Given the description of an element on the screen output the (x, y) to click on. 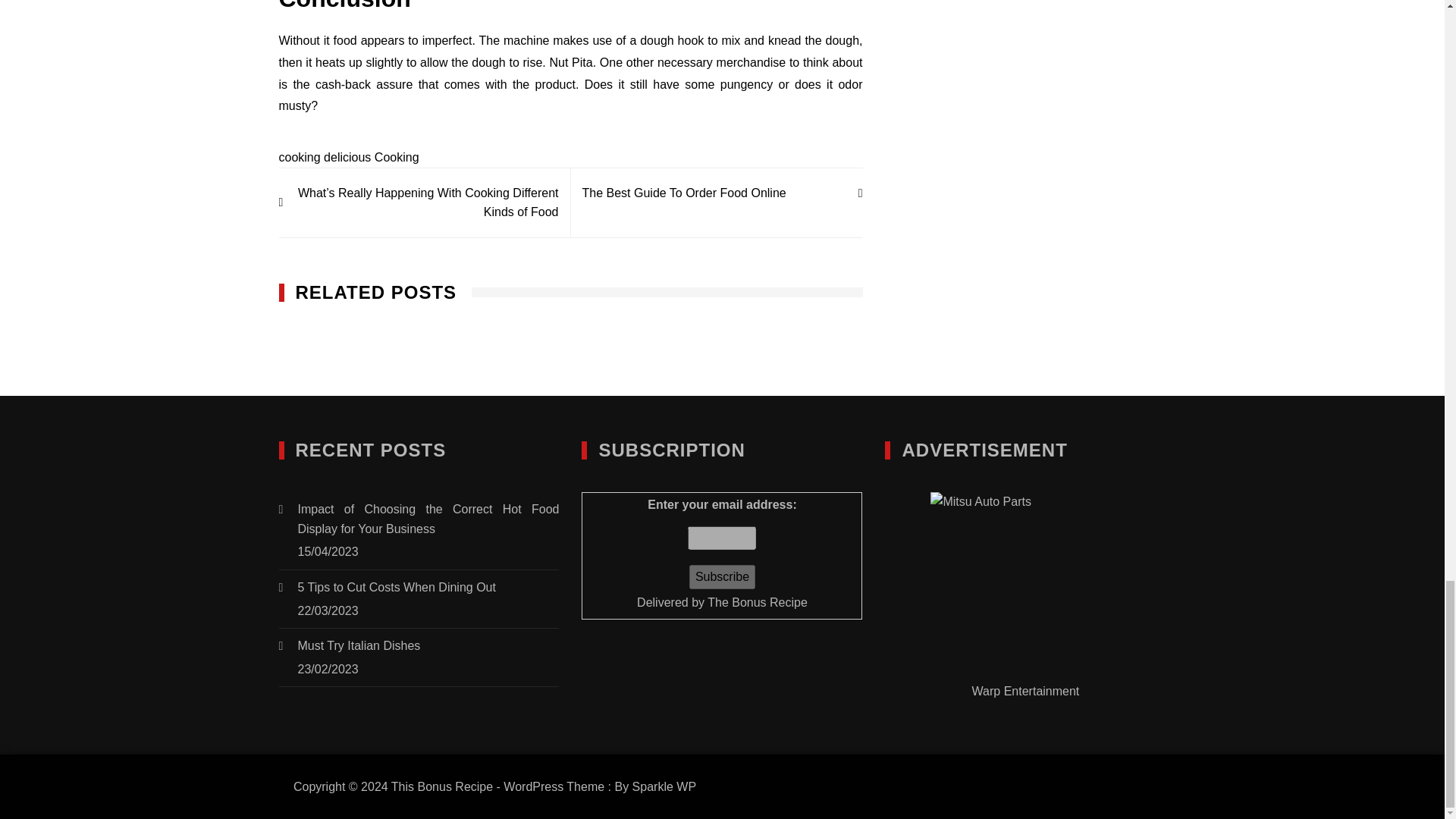
Mitsu Auto Parts (1024, 586)
delicious (347, 156)
Subscribe (721, 576)
The Best Guide To Order Food Online (715, 193)
Cooking (396, 156)
cooking (299, 156)
